Given the description of an element on the screen output the (x, y) to click on. 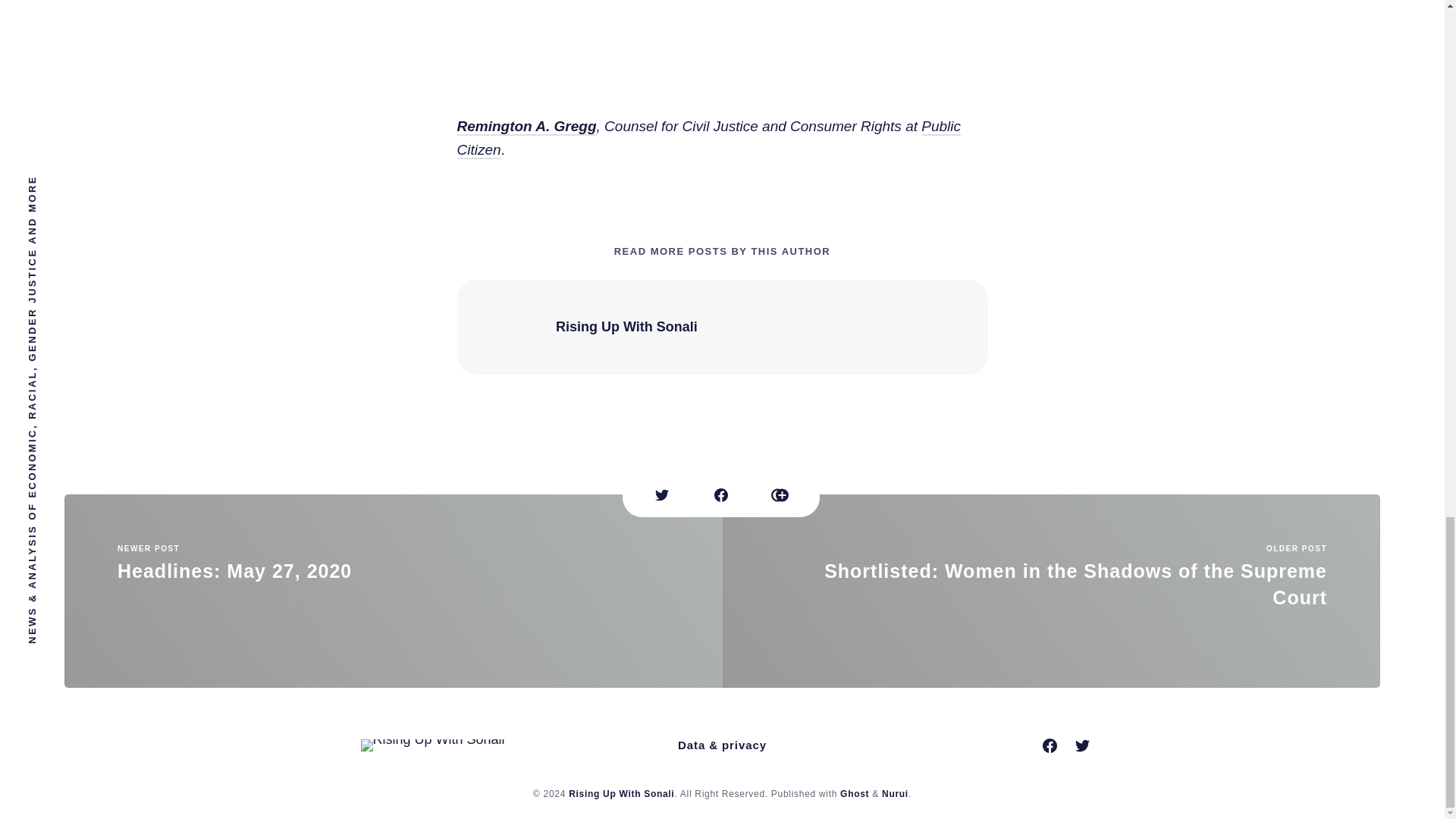
Rising Up With Sonali (621, 792)
Public Citizen (708, 136)
Rising Up With Sonali (393, 588)
Ghost (625, 324)
Nurui (854, 792)
Remington A. Gregg (895, 792)
